Given the description of an element on the screen output the (x, y) to click on. 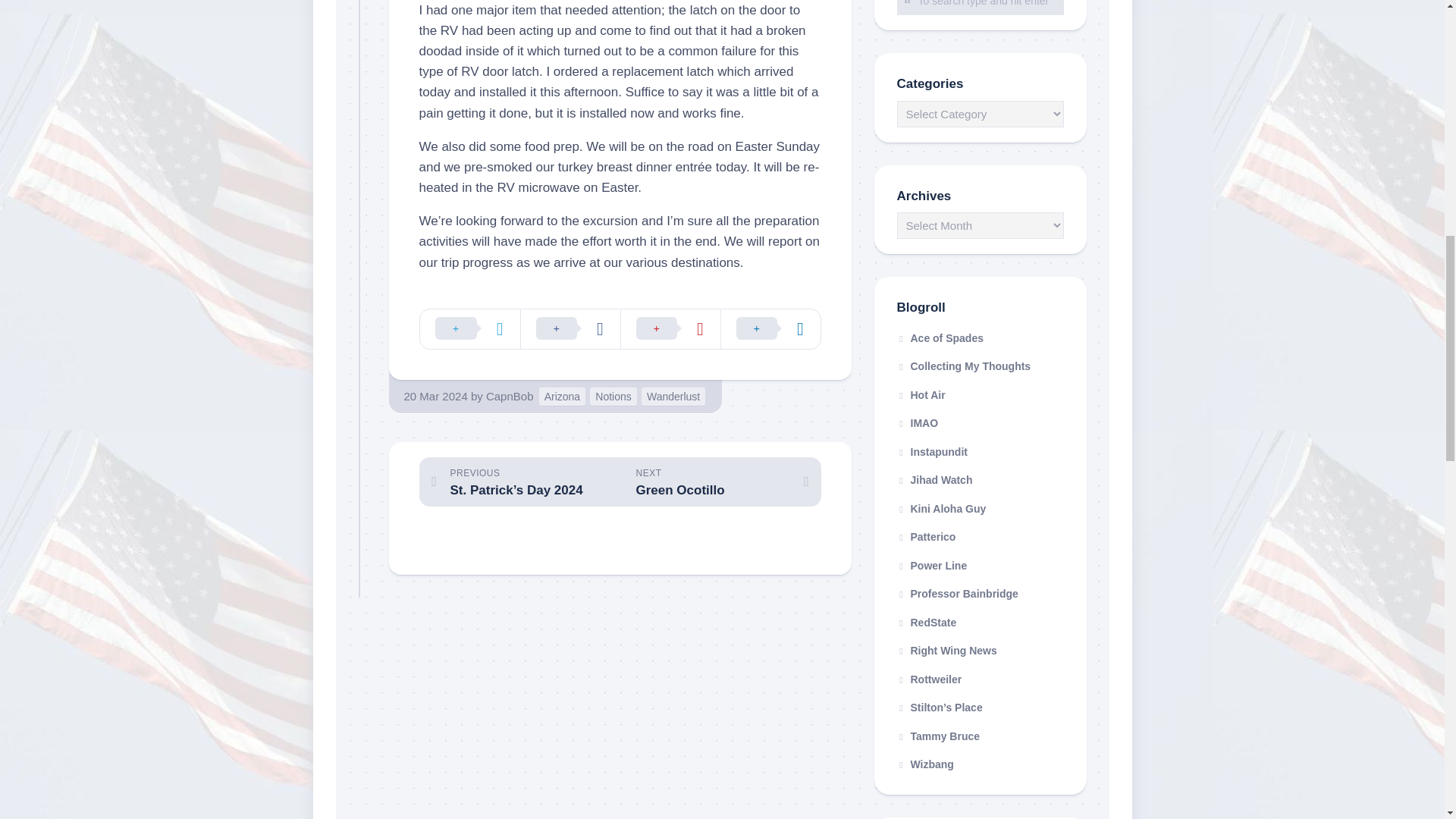
Professor Bainbridge (956, 593)
To search type and hit enter (979, 7)
CapnBob (510, 395)
Power Line (931, 565)
Share on Pinterest (670, 328)
IMAO (916, 422)
Share on LinkedIn (770, 328)
Share on X (469, 328)
Collecting My Thoughts (963, 366)
Patterico (925, 536)
Share on Facebook (569, 328)
To search type and hit enter (979, 7)
Arizona (561, 396)
Posts by CapnBob (510, 395)
RedState (926, 622)
